Given the description of an element on the screen output the (x, y) to click on. 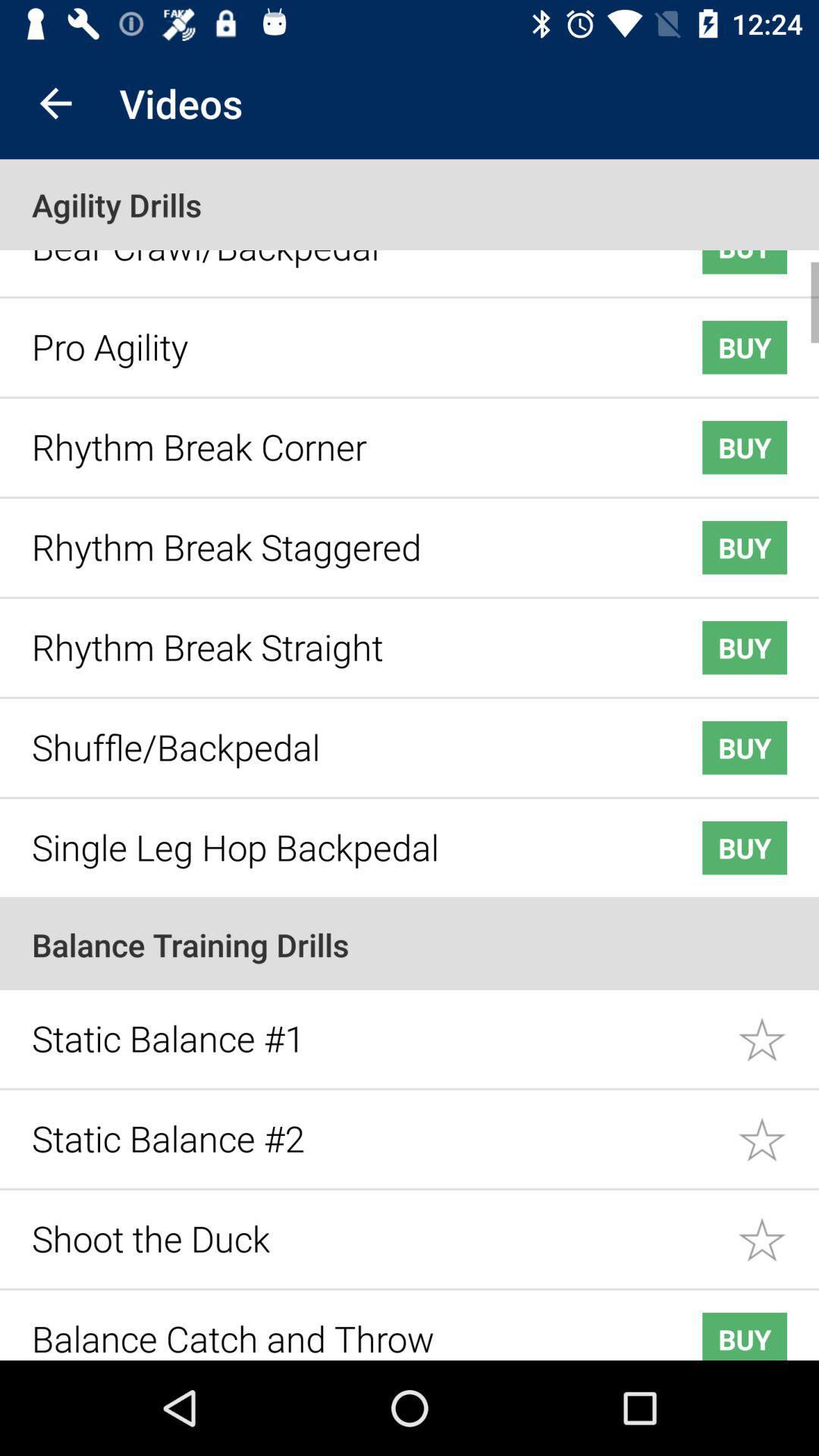
favorite static balance 2 (778, 1128)
